Given the description of an element on the screen output the (x, y) to click on. 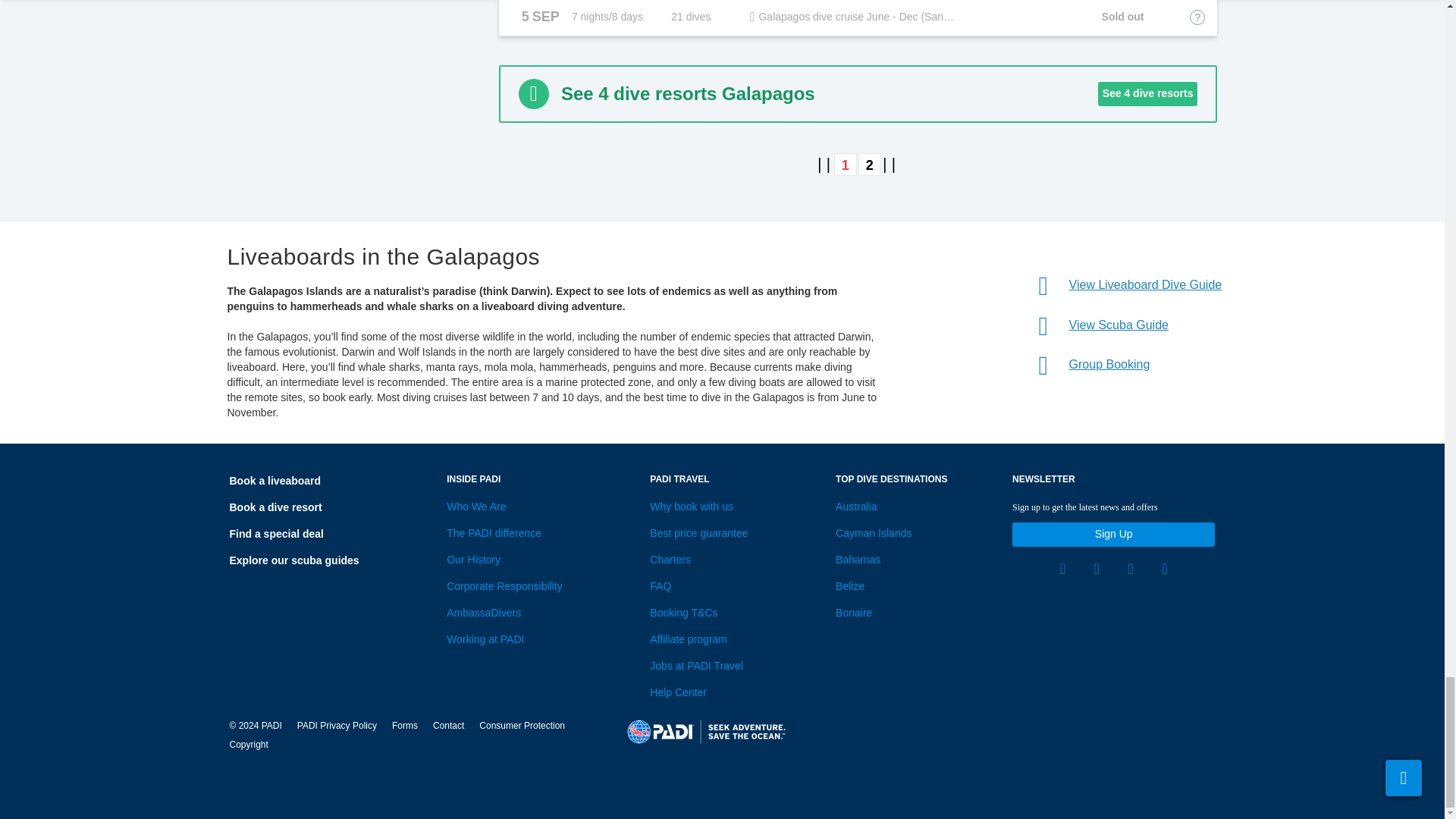
Find a special deal (275, 533)
Book a dive resort (274, 507)
Book a liveaboard (274, 480)
Explore our scuba guides (293, 560)
